Given the description of an element on the screen output the (x, y) to click on. 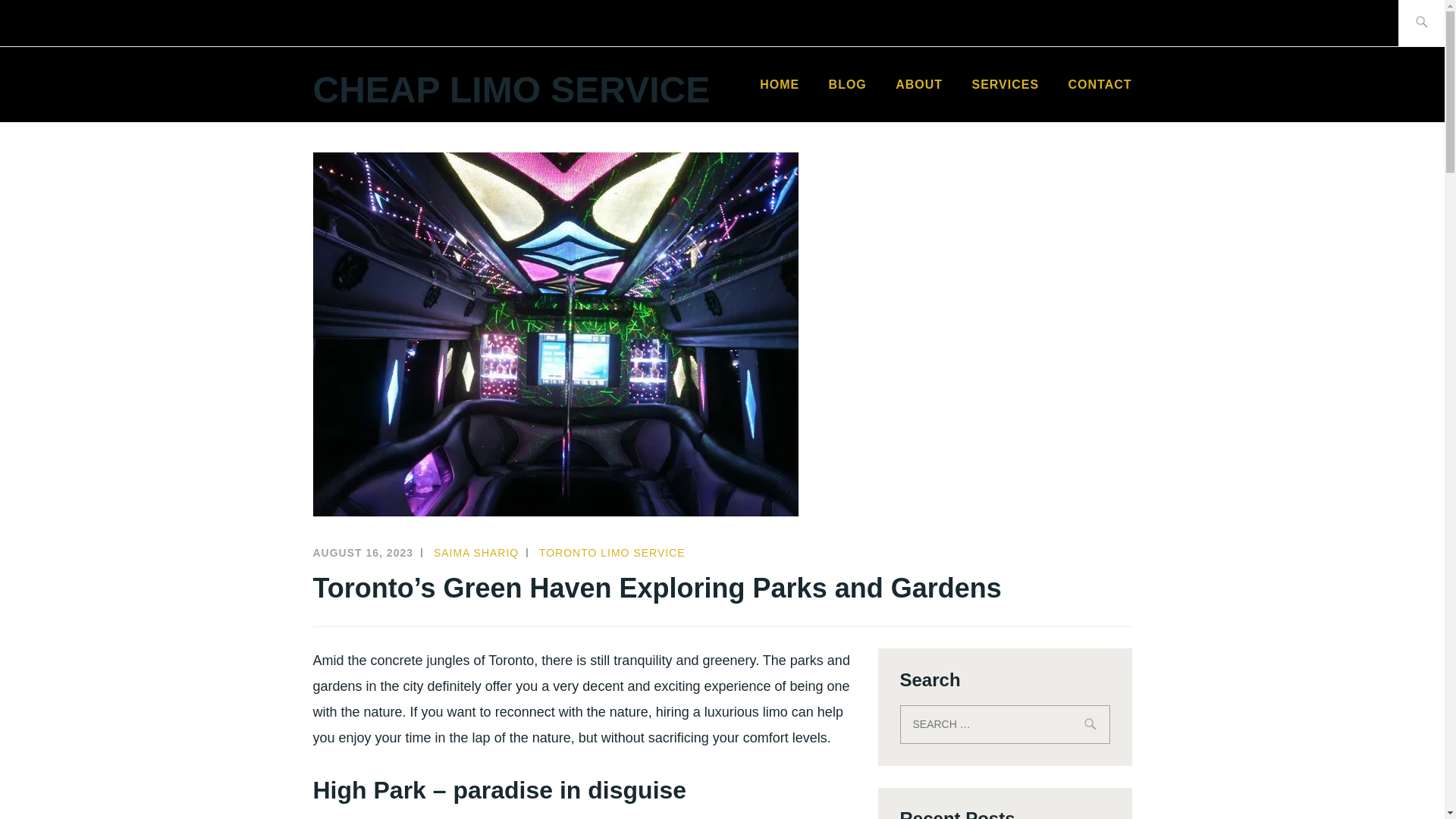
SAIMA SHARIQ (475, 552)
CHEAP LIMO SERVICE (511, 89)
TORONTO LIMO SERVICE (611, 552)
CONTACT (1099, 84)
BLOG (847, 84)
Search (47, 22)
HOME (779, 84)
AUGUST 16, 2023 (363, 552)
ABOUT (918, 84)
SERVICES (1005, 84)
